Given the description of an element on the screen output the (x, y) to click on. 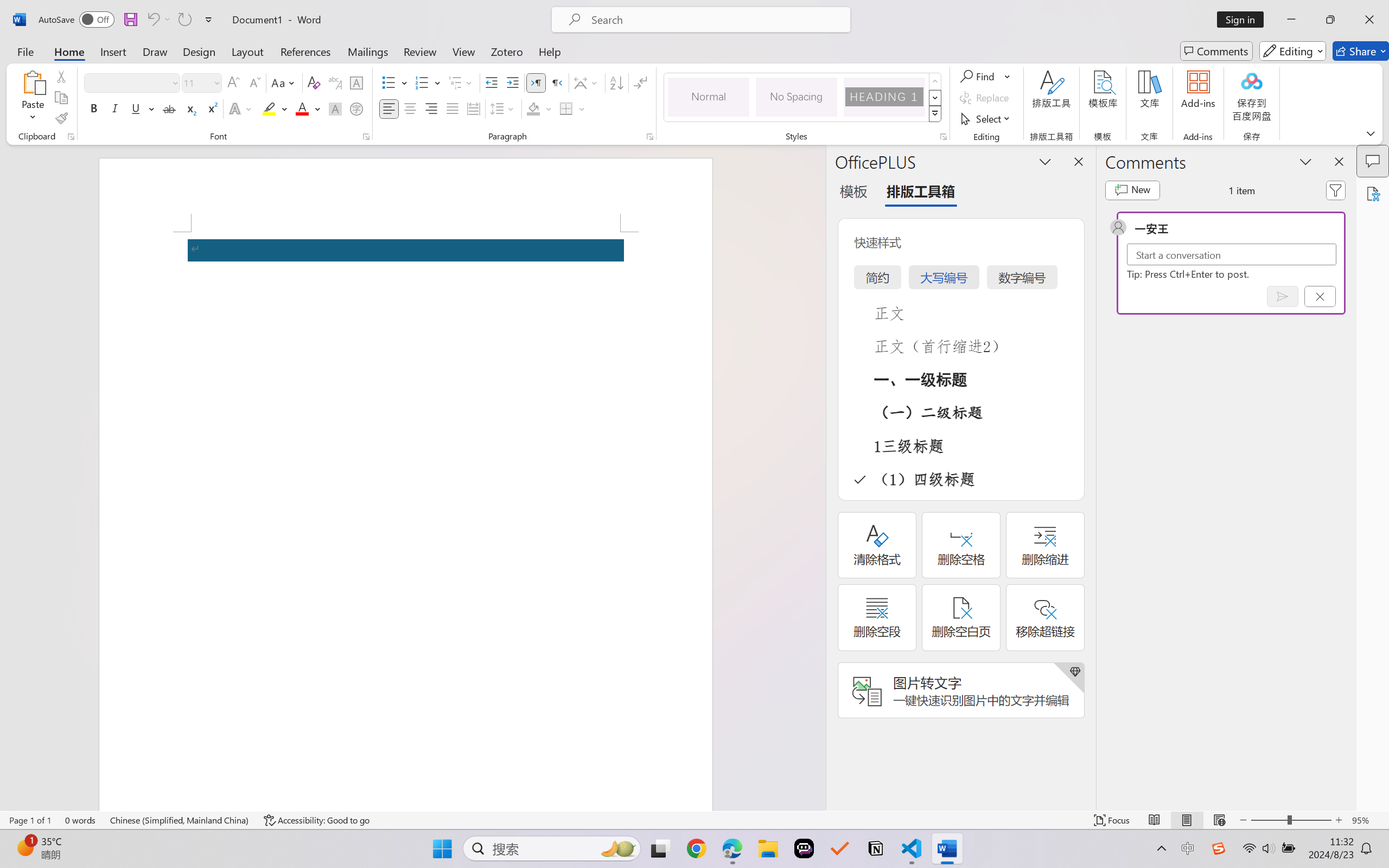
Undo Apply Quick Style Set (152, 19)
